Given the description of an element on the screen output the (x, y) to click on. 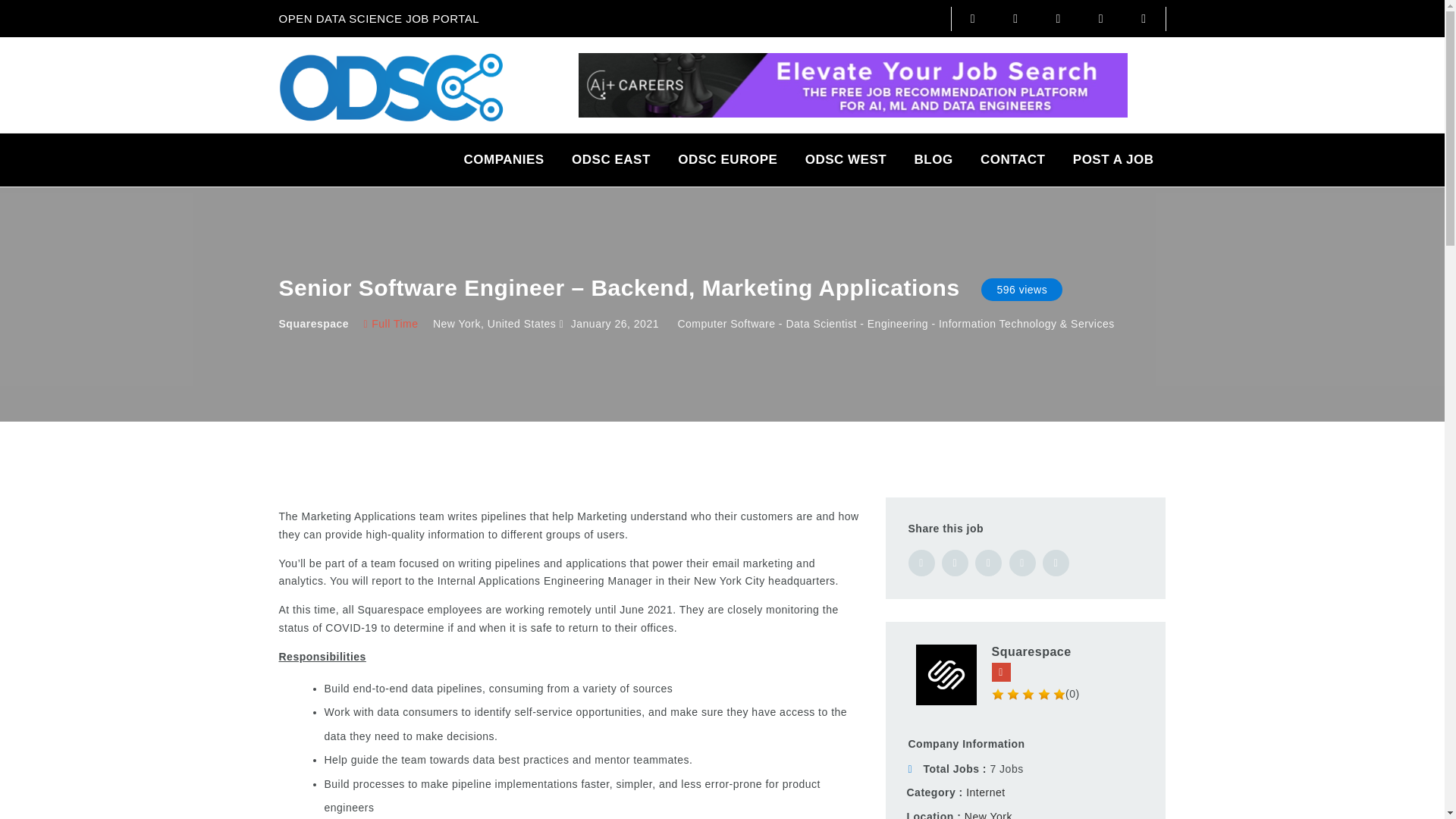
Squarespace (314, 323)
ODSC EAST (610, 159)
1695221289836 (852, 85)
BLOG (933, 159)
United States (521, 323)
Data Scientist (821, 323)
Engineering (897, 323)
COMPANIES (503, 159)
Computer Software (725, 323)
CONTACT (1012, 159)
ODSC EUROPE (727, 159)
Full Time (391, 323)
1695221289836 (852, 83)
POST A JOB (1113, 159)
ODSC WEST (845, 159)
